Given the description of an element on the screen output the (x, y) to click on. 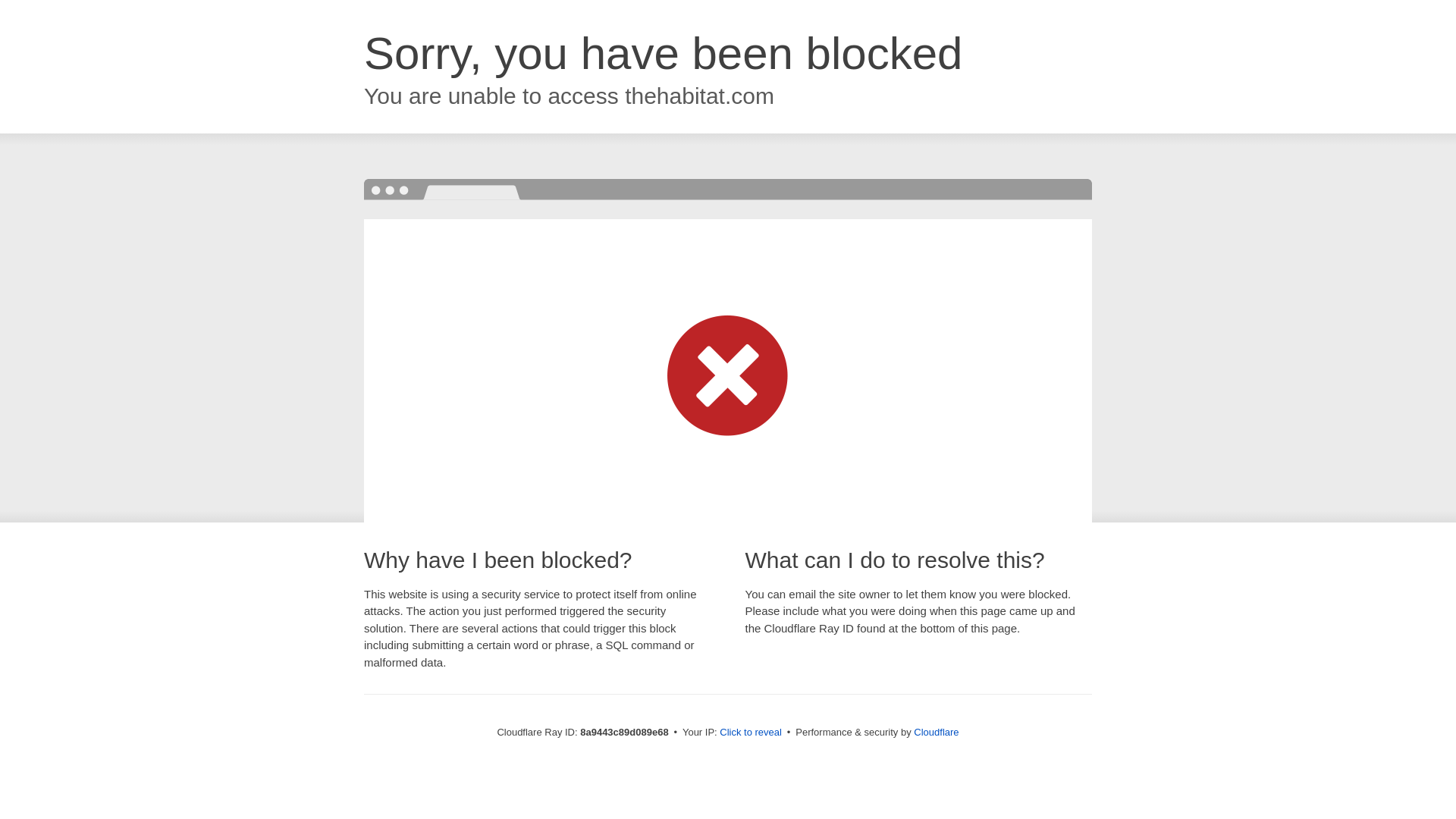
Cloudflare (936, 731)
Click to reveal (750, 732)
